Given the description of an element on the screen output the (x, y) to click on. 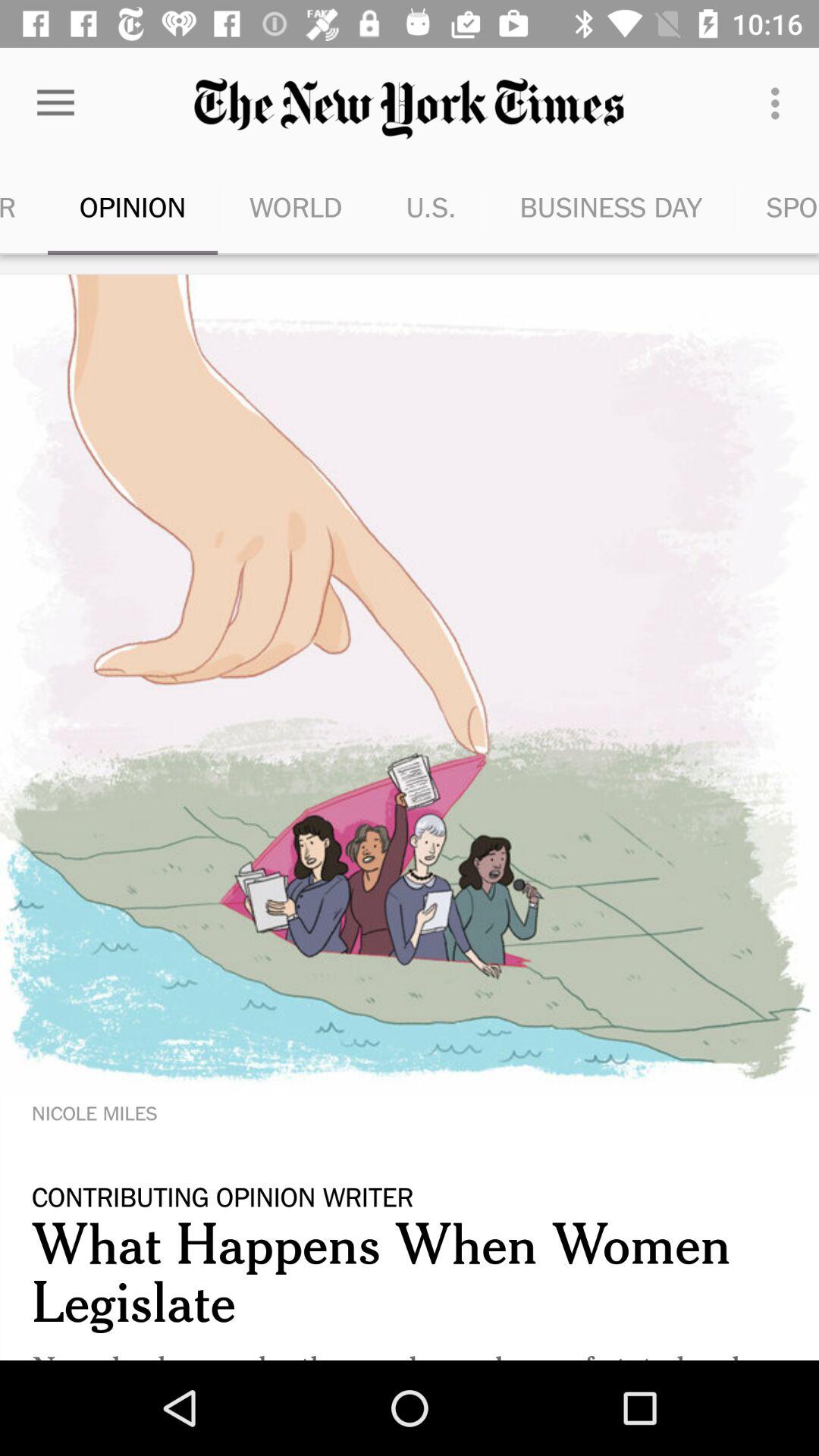
open the item to the right of the u.s. item (610, 206)
